Given the description of an element on the screen output the (x, y) to click on. 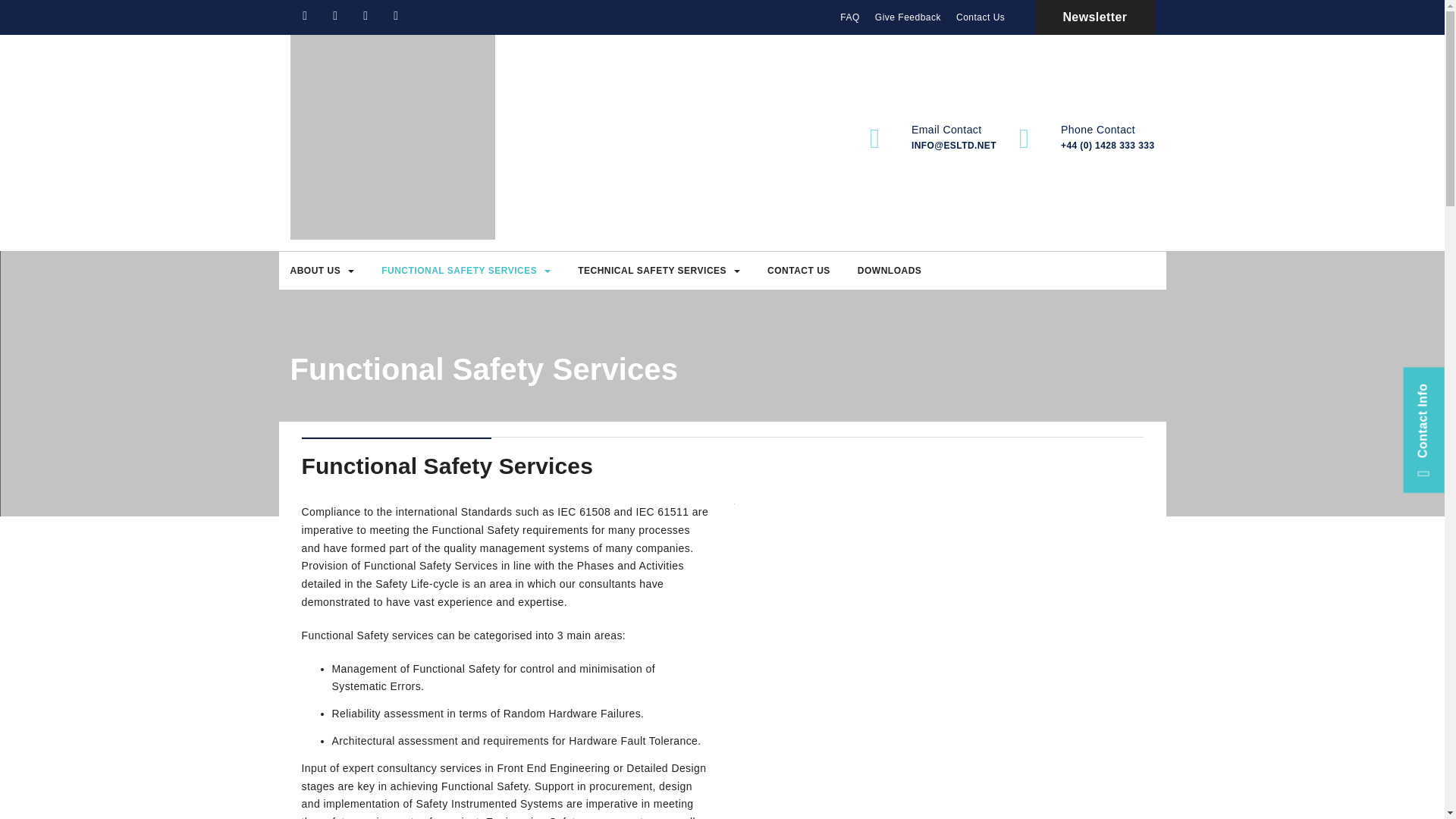
FUNCTIONAL SAFETY SERVICES (466, 270)
Contact Us (980, 17)
Newsletter (1094, 17)
FAQ (849, 17)
ABOUT US (322, 270)
TECHNICAL SAFETY SERVICES (659, 270)
Give Feedback (908, 17)
